Given the description of an element on the screen output the (x, y) to click on. 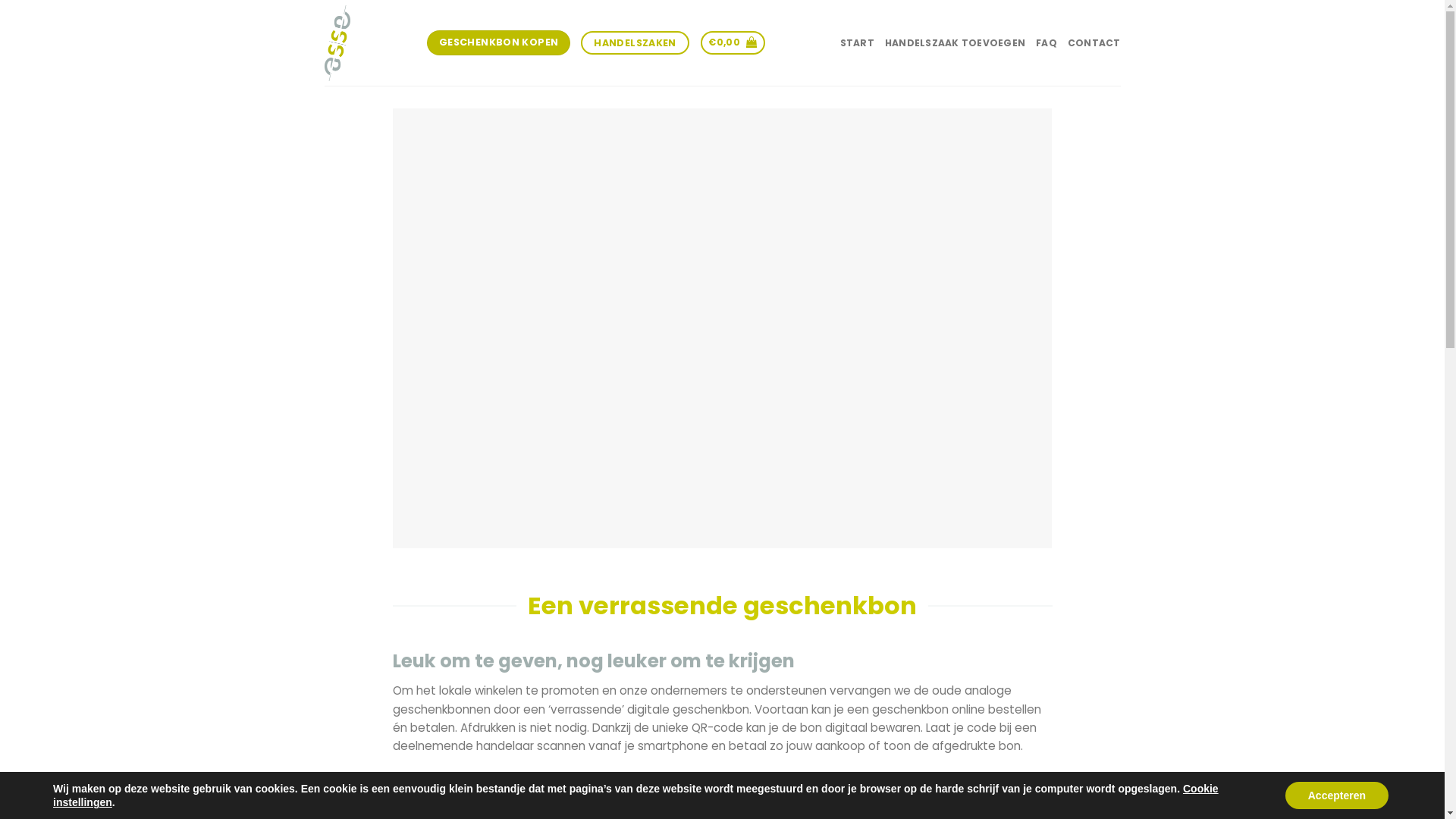
START Element type: text (857, 42)
HANDELSZAKEN Element type: text (634, 42)
FAQ Element type: text (1046, 42)
Accepteren Element type: text (1336, 795)
in de shop Element type: text (638, 779)
GESCHENKBON KOPEN Element type: text (498, 42)
Assese Geschenkbon - Verrassend veelzijdig Vlaams Element type: hover (338, 42)
CONTACT Element type: text (1093, 42)
HANDELSZAAK TOEVOEGEN Element type: text (954, 42)
